Given the description of an element on the screen output the (x, y) to click on. 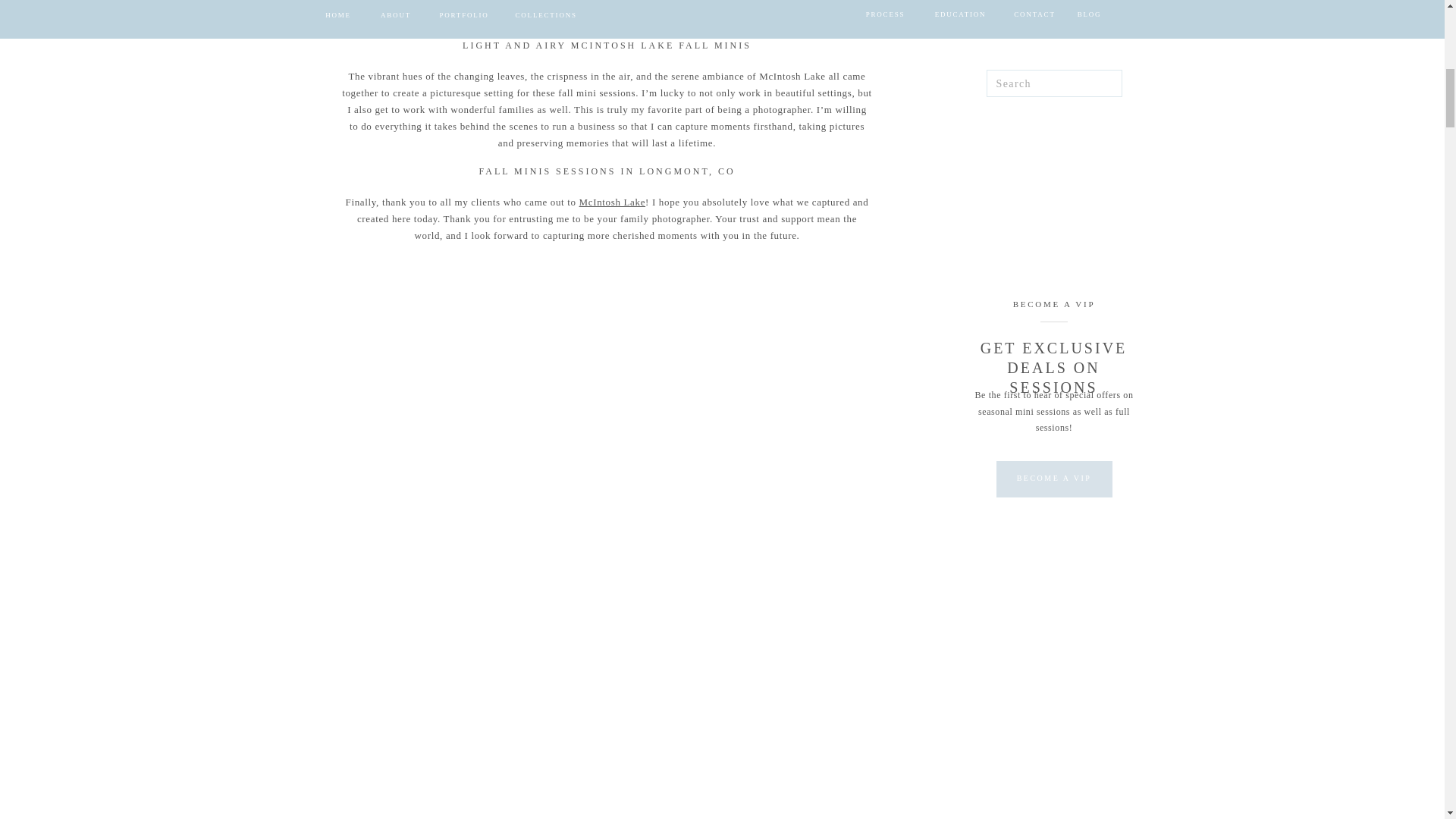
BECOME A VIP (1053, 478)
McIntosh Lake (612, 202)
arrow (1089, 2)
BECOME A VIP (1054, 306)
arrow (1089, 2)
